Given the description of an element on the screen output the (x, y) to click on. 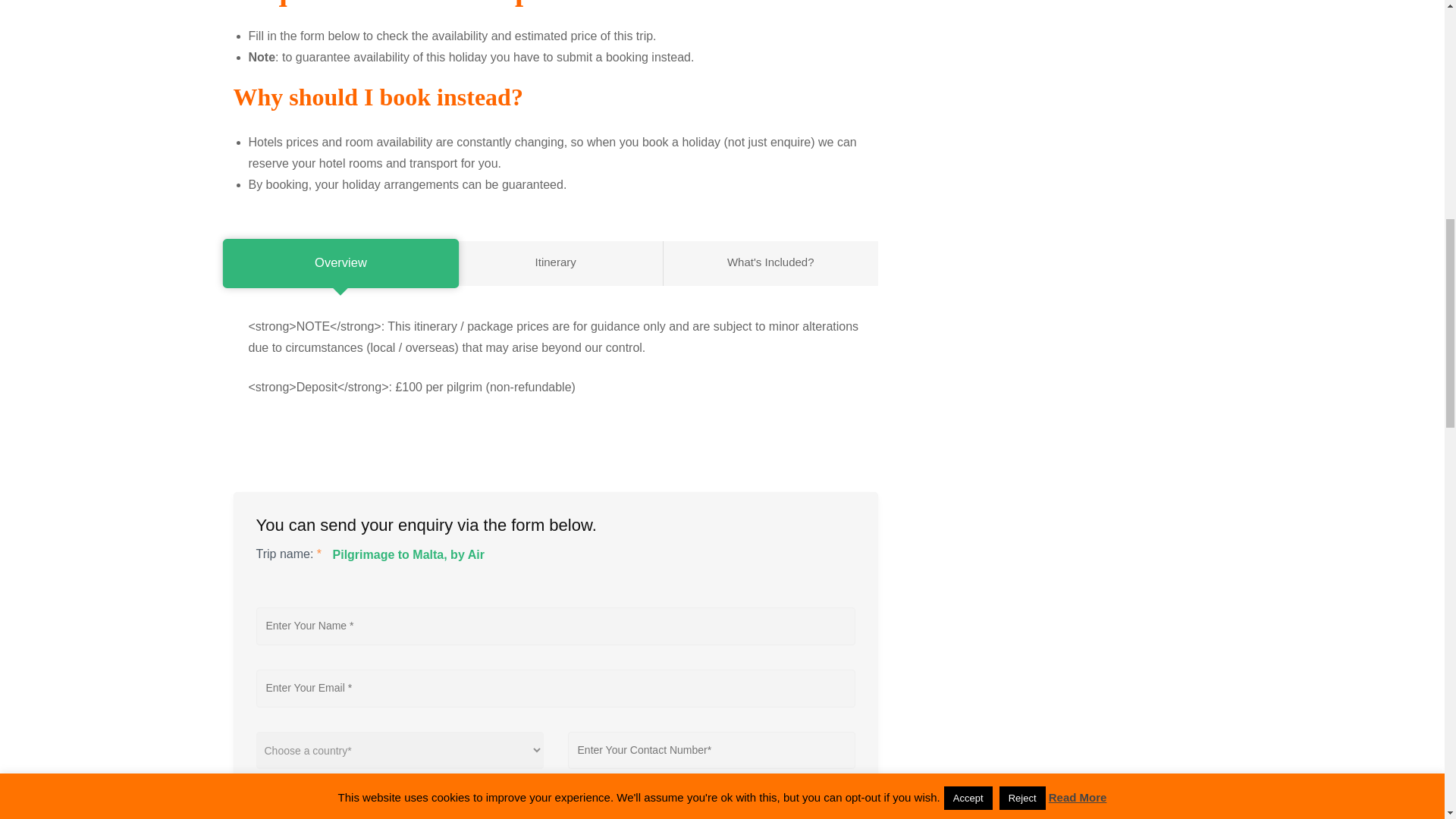
Itinerary (555, 262)
Overview (329, 261)
What's Included? (770, 262)
